Given the description of an element on the screen output the (x, y) to click on. 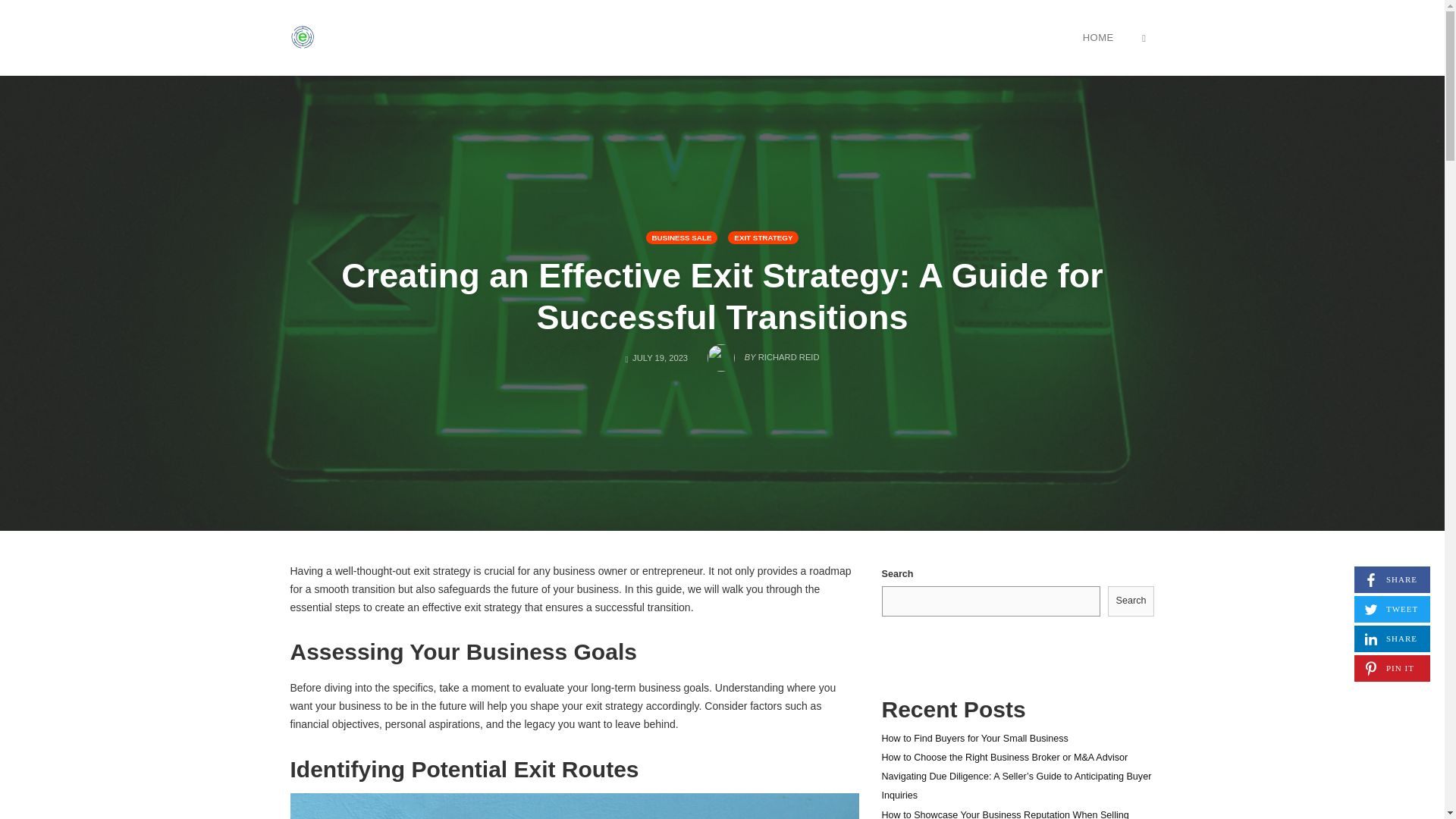
BUSINESS SALE (681, 237)
HOME (1391, 638)
OPEN SEARCH FORM (1098, 37)
How to Find Buyers for Your Small Business (1144, 37)
sellmybusiness-io (973, 738)
Search (301, 37)
